Given the description of an element on the screen output the (x, y) to click on. 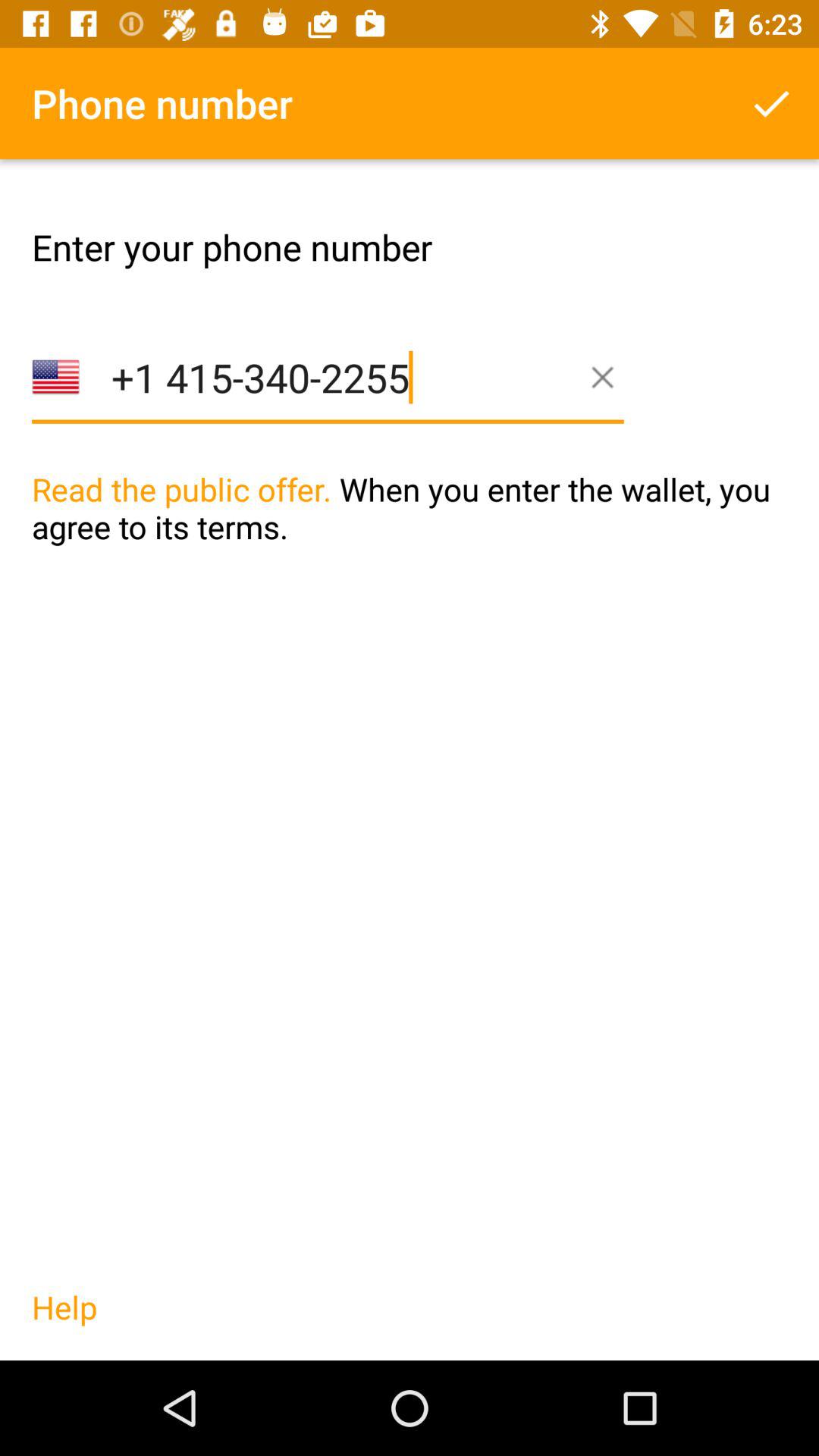
finish (771, 103)
